Given the description of an element on the screen output the (x, y) to click on. 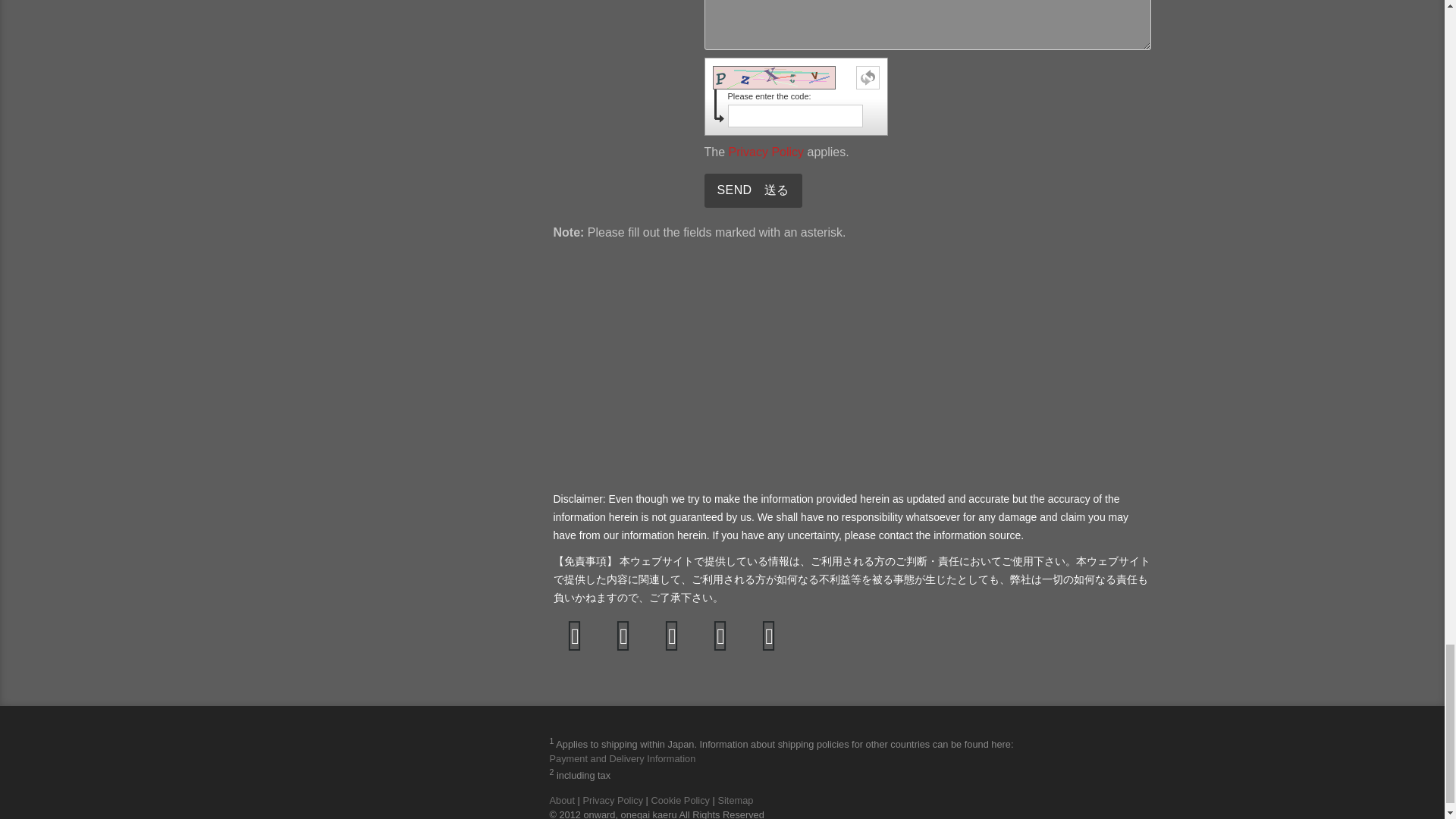
Email (672, 636)
Facebook (574, 636)
Generate new code (867, 77)
Line (770, 636)
Twitter (624, 636)
VKontakte (720, 636)
